Given the description of an element on the screen output the (x, y) to click on. 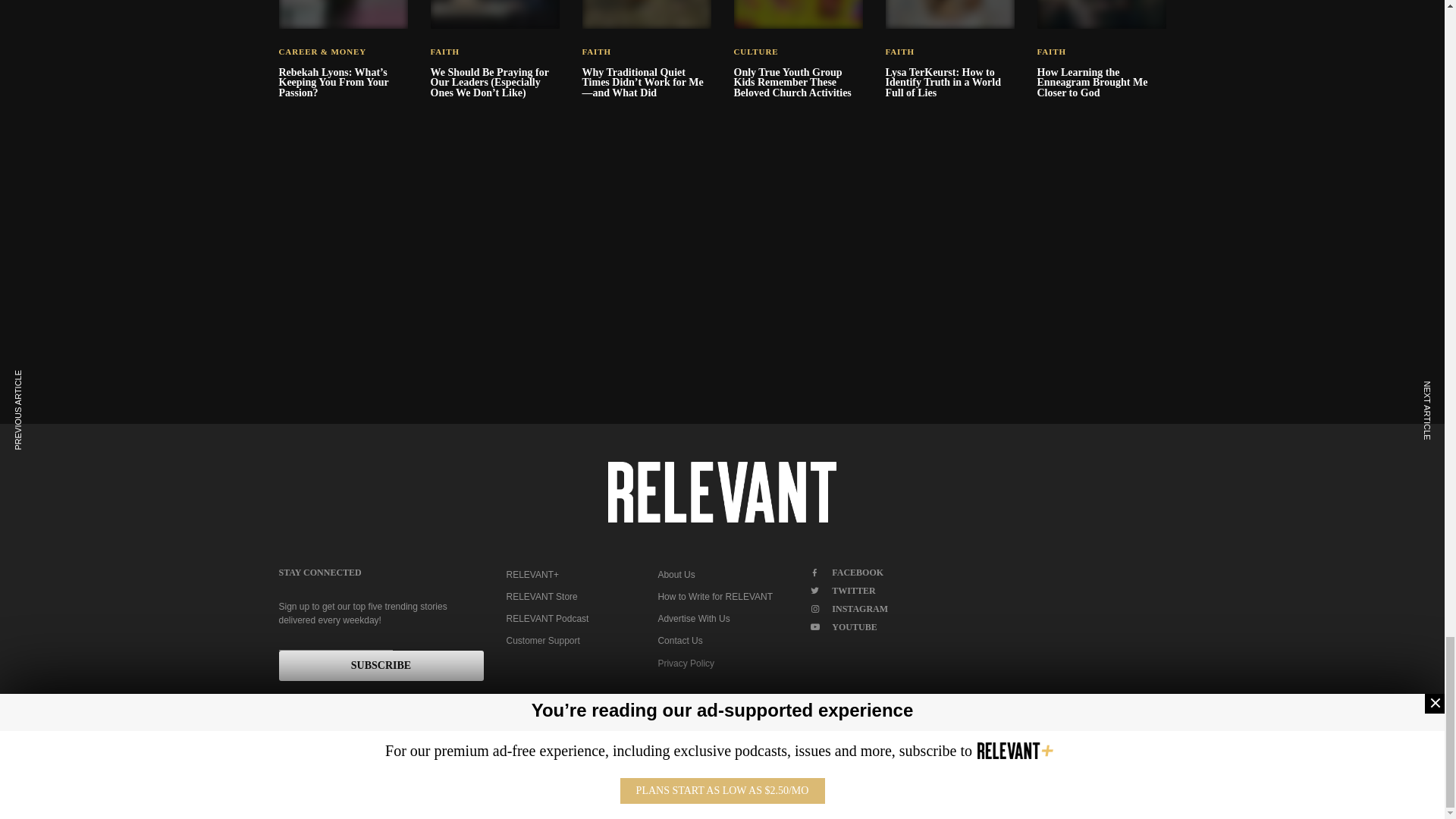
Subscribe (381, 665)
